Given the description of an element on the screen output the (x, y) to click on. 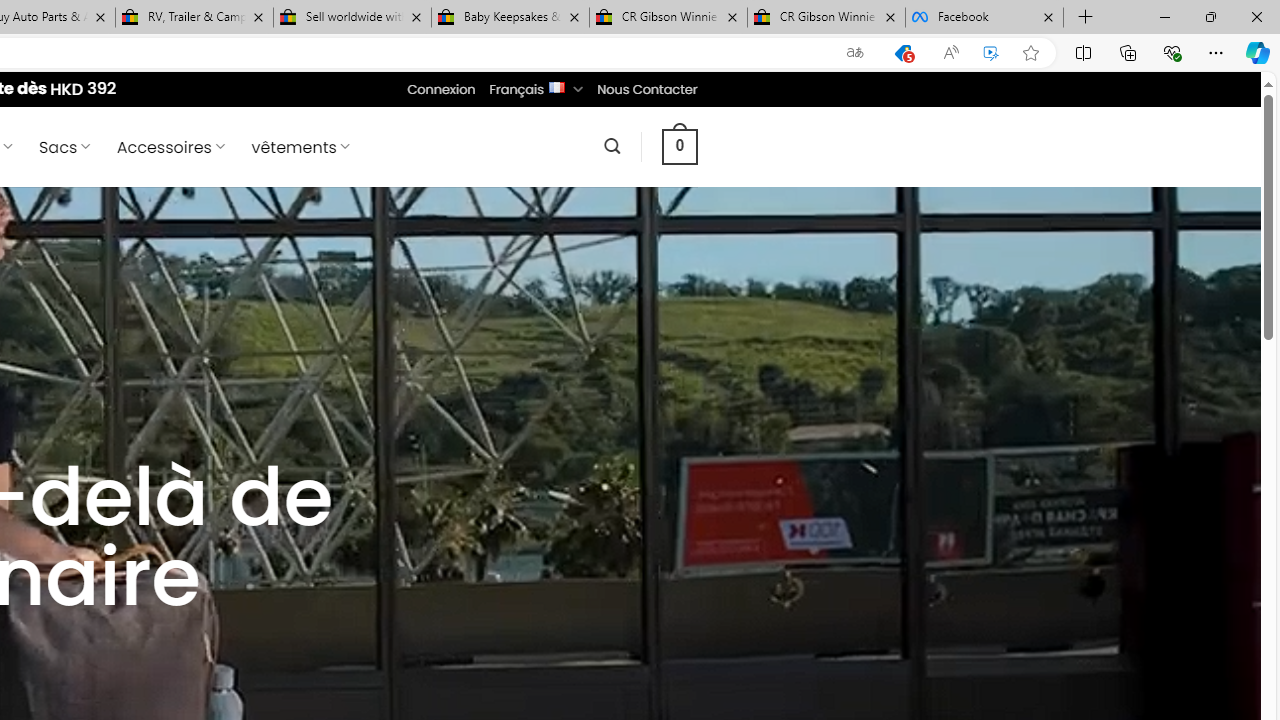
Show translate options (854, 53)
Connexion (441, 89)
 0  (679, 146)
This site has coupons! Shopping in Microsoft Edge, 5 (902, 53)
Nous Contacter (646, 89)
